Given the description of an element on the screen output the (x, y) to click on. 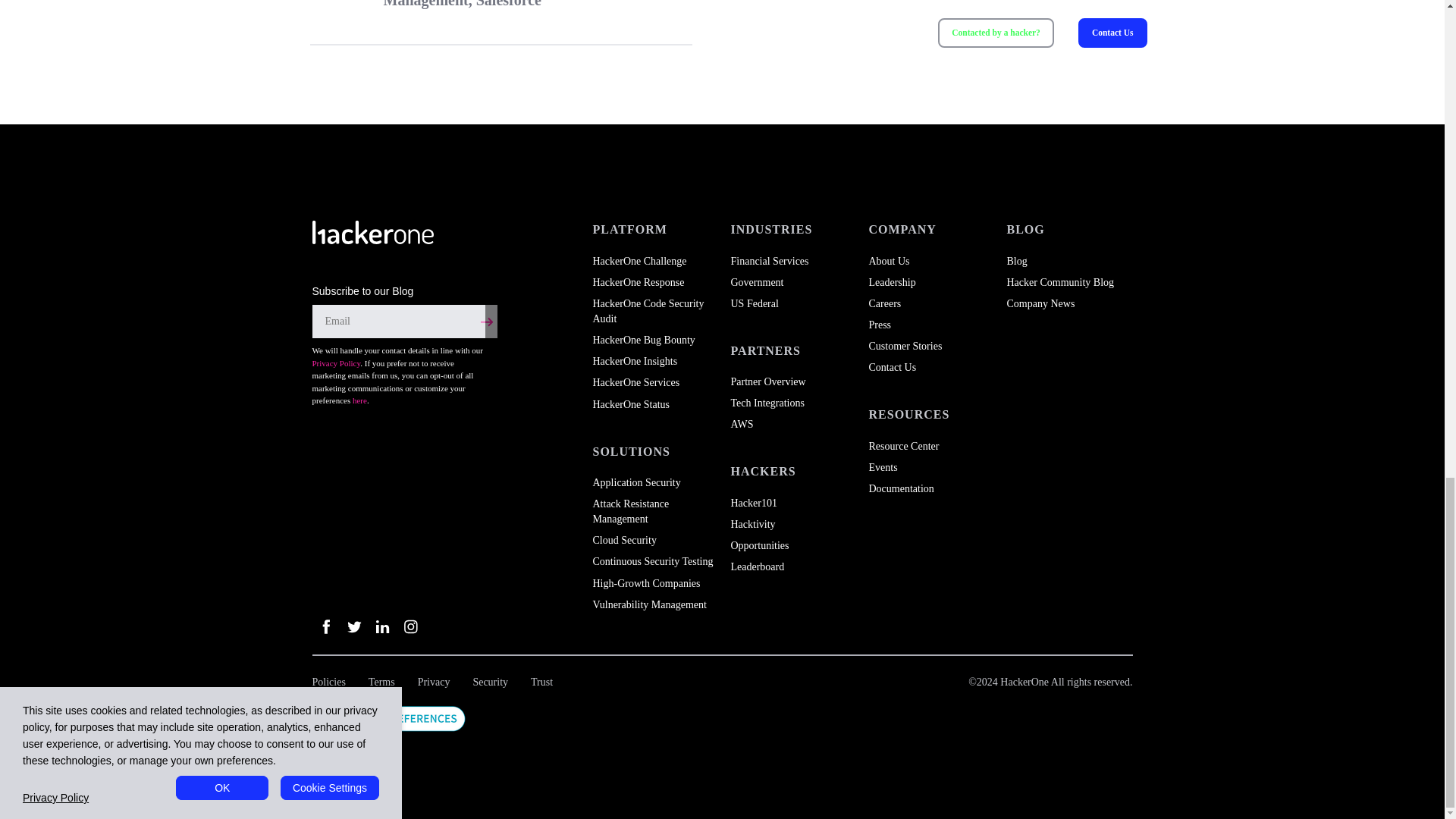
Follow us on Instagram (409, 626)
Follow us on Twitter (353, 626)
Follow us on Facebook (326, 626)
Follow us on LinkedIn (382, 626)
